Given the description of an element on the screen output the (x, y) to click on. 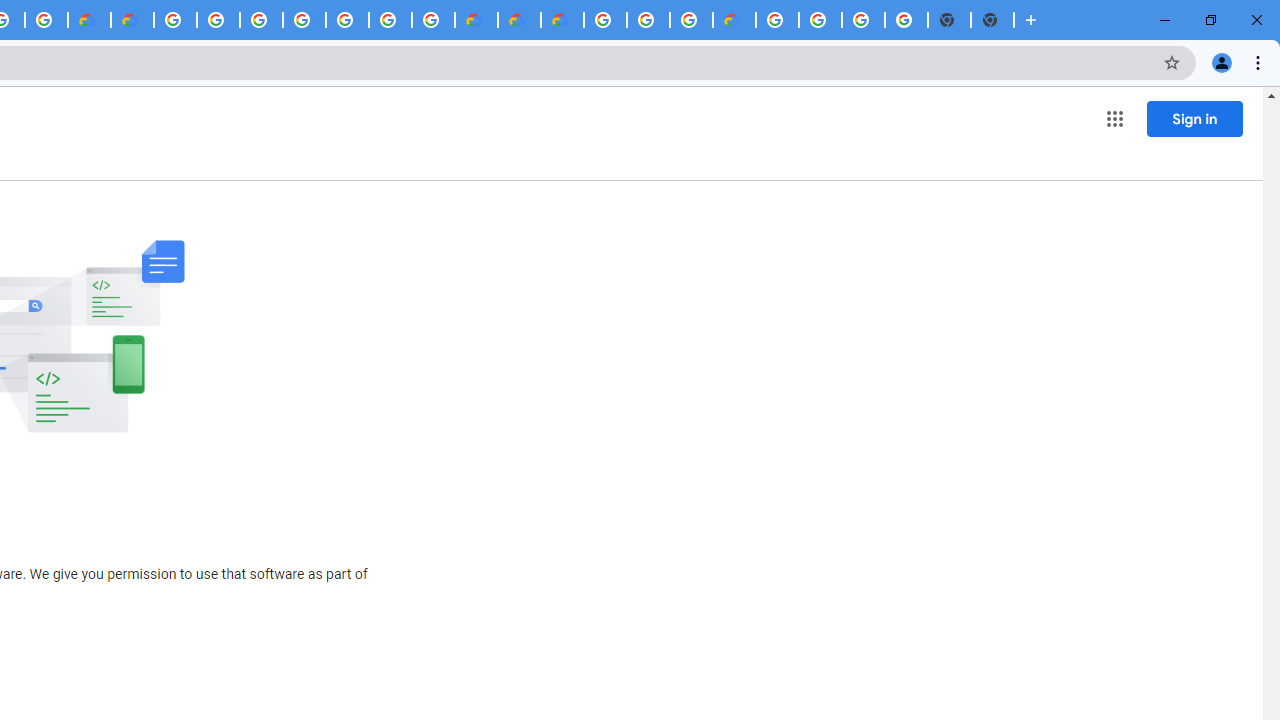
Google Cloud Service Health (734, 20)
Google Cloud Platform (390, 20)
Google Cloud Platform (777, 20)
Browse Chrome as a guest - Computer - Google Chrome Help (690, 20)
Customer Care | Google Cloud (475, 20)
Browse Chrome as a guest - Computer - Google Chrome Help (648, 20)
Sign in - Google Accounts (260, 20)
Customer Care | Google Cloud (89, 20)
